Given the description of an element on the screen output the (x, y) to click on. 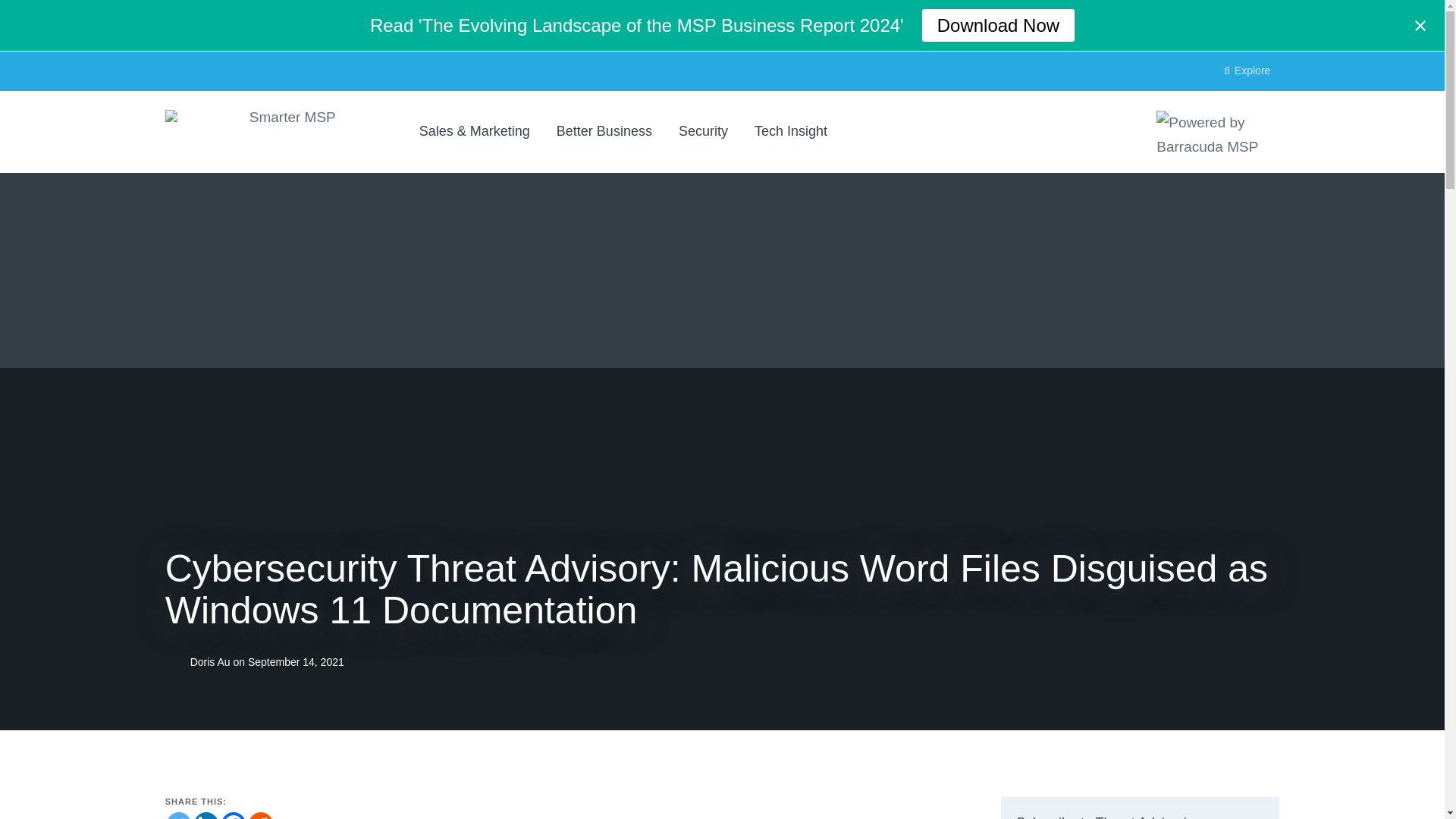
Download Now (997, 25)
